Given the description of an element on the screen output the (x, y) to click on. 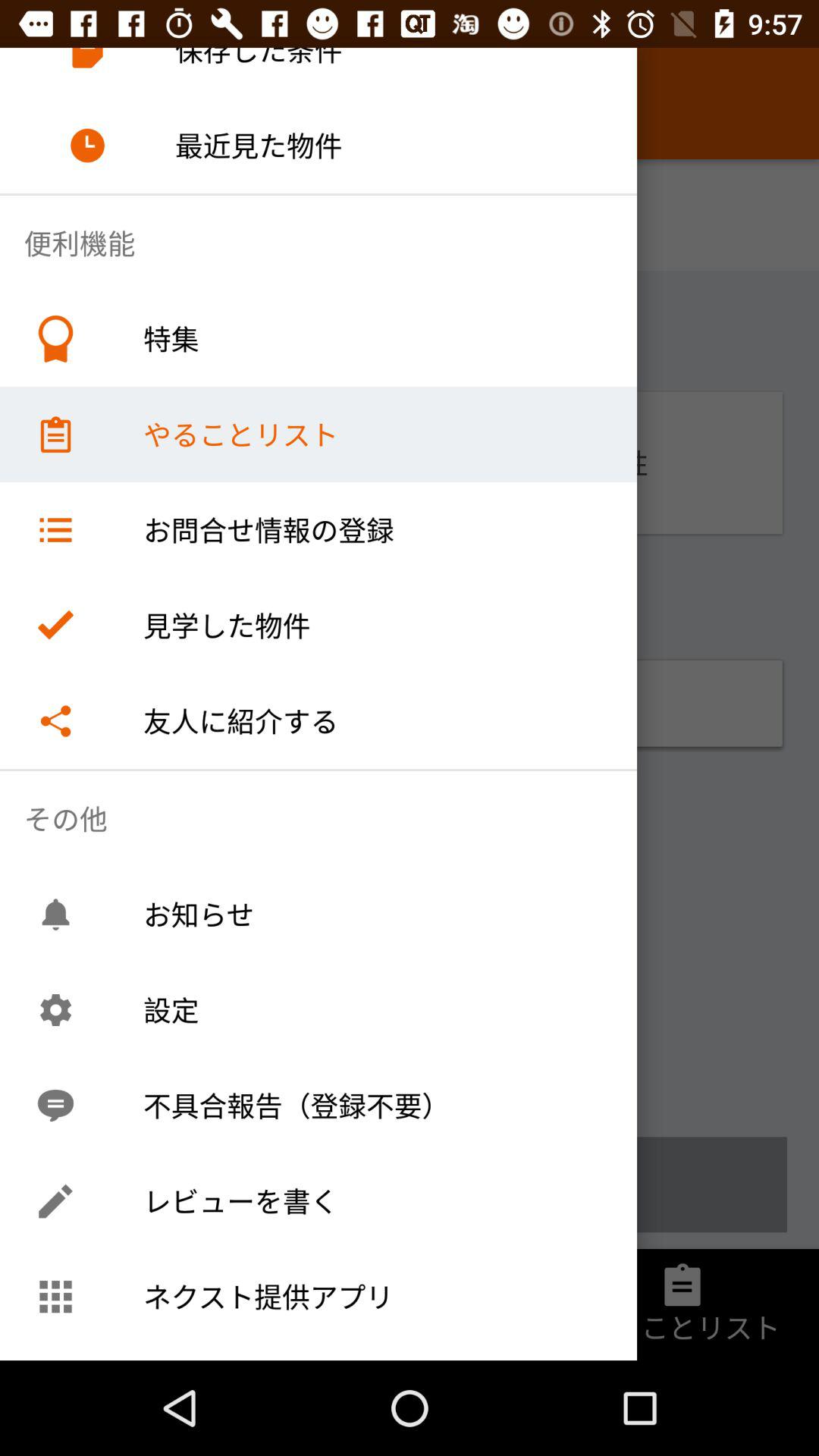
select the symbol and the text present below the right mark (409, 704)
click on second option from bottom (409, 1184)
second option icon from bottom left corner (55, 1201)
